Given the description of an element on the screen output the (x, y) to click on. 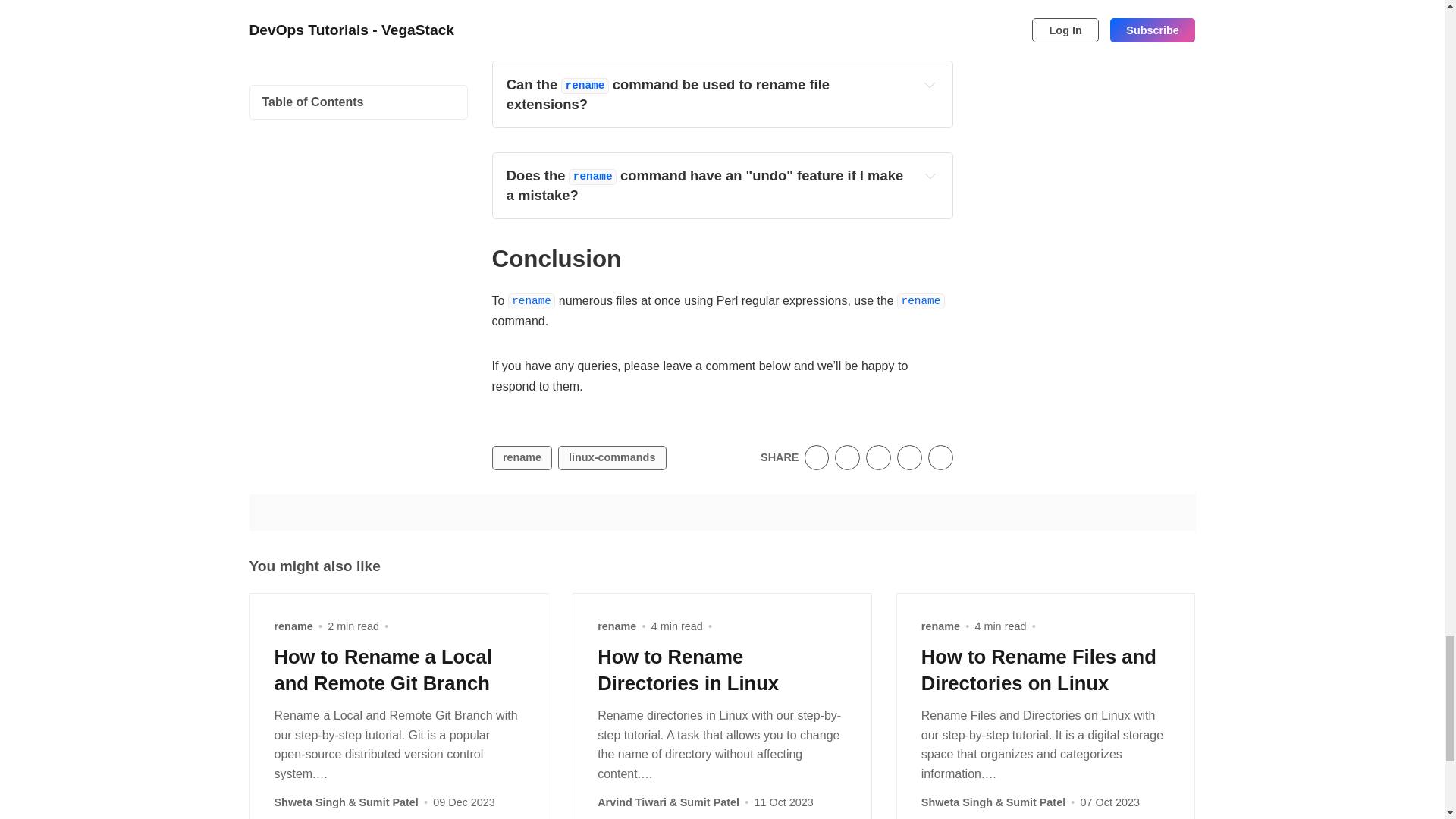
rename (521, 457)
Copy to clipboard (940, 457)
Share by email (908, 457)
linux-commands (611, 457)
Share on Linkedin (878, 457)
Share on Facebook (847, 457)
Share on Twitter (817, 457)
